Given the description of an element on the screen output the (x, y) to click on. 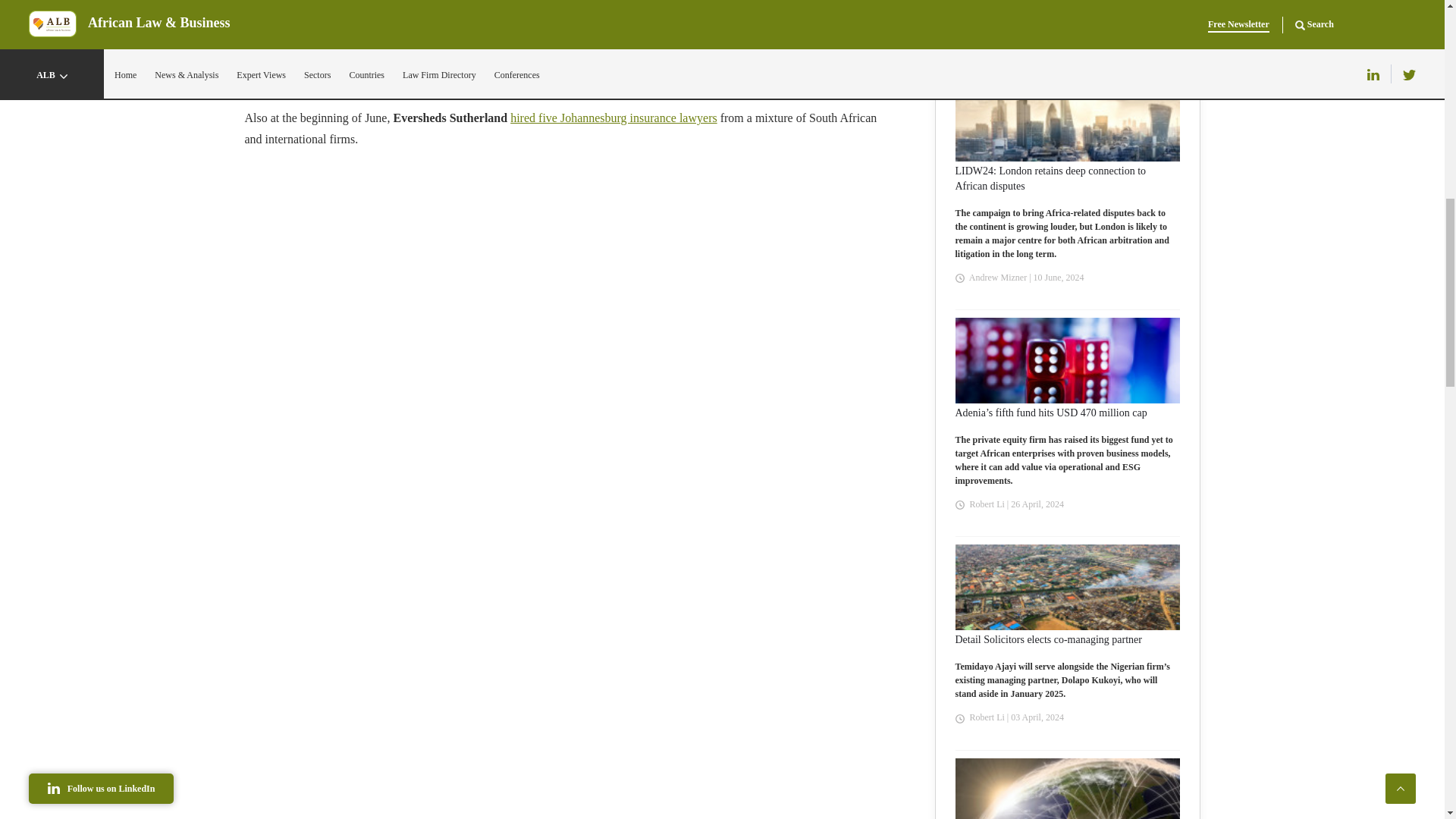
a corporate transactional partner to (445, 63)
promoted nine lawyers to partner (324, 84)
hired a competition partner (757, 63)
hired five Johannesburg insurance lawyers (614, 117)
LIDW24: London retains deep connection to African disputes (1067, 178)
